Given the description of an element on the screen output the (x, y) to click on. 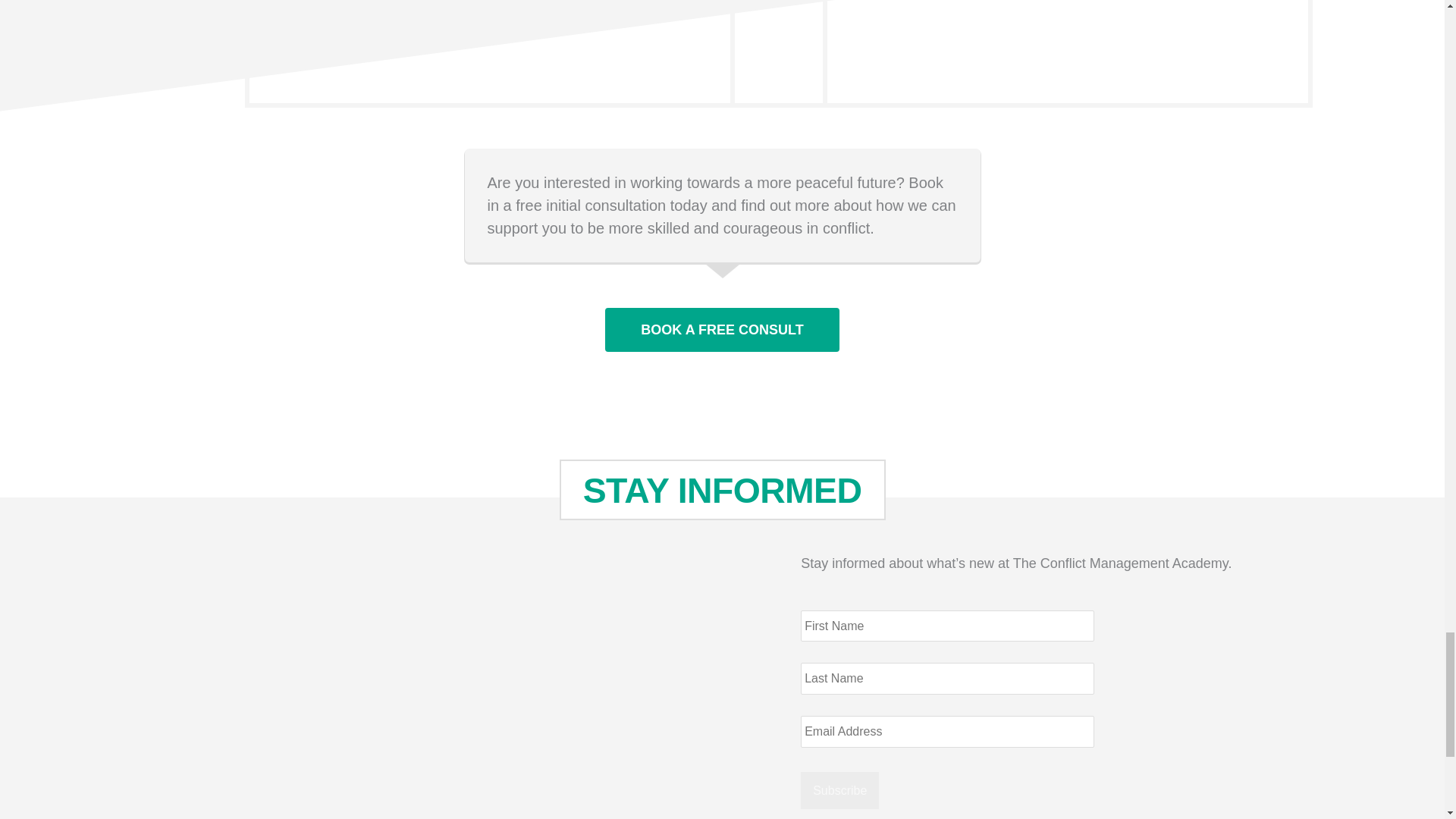
Subscribe (839, 790)
